Given the description of an element on the screen output the (x, y) to click on. 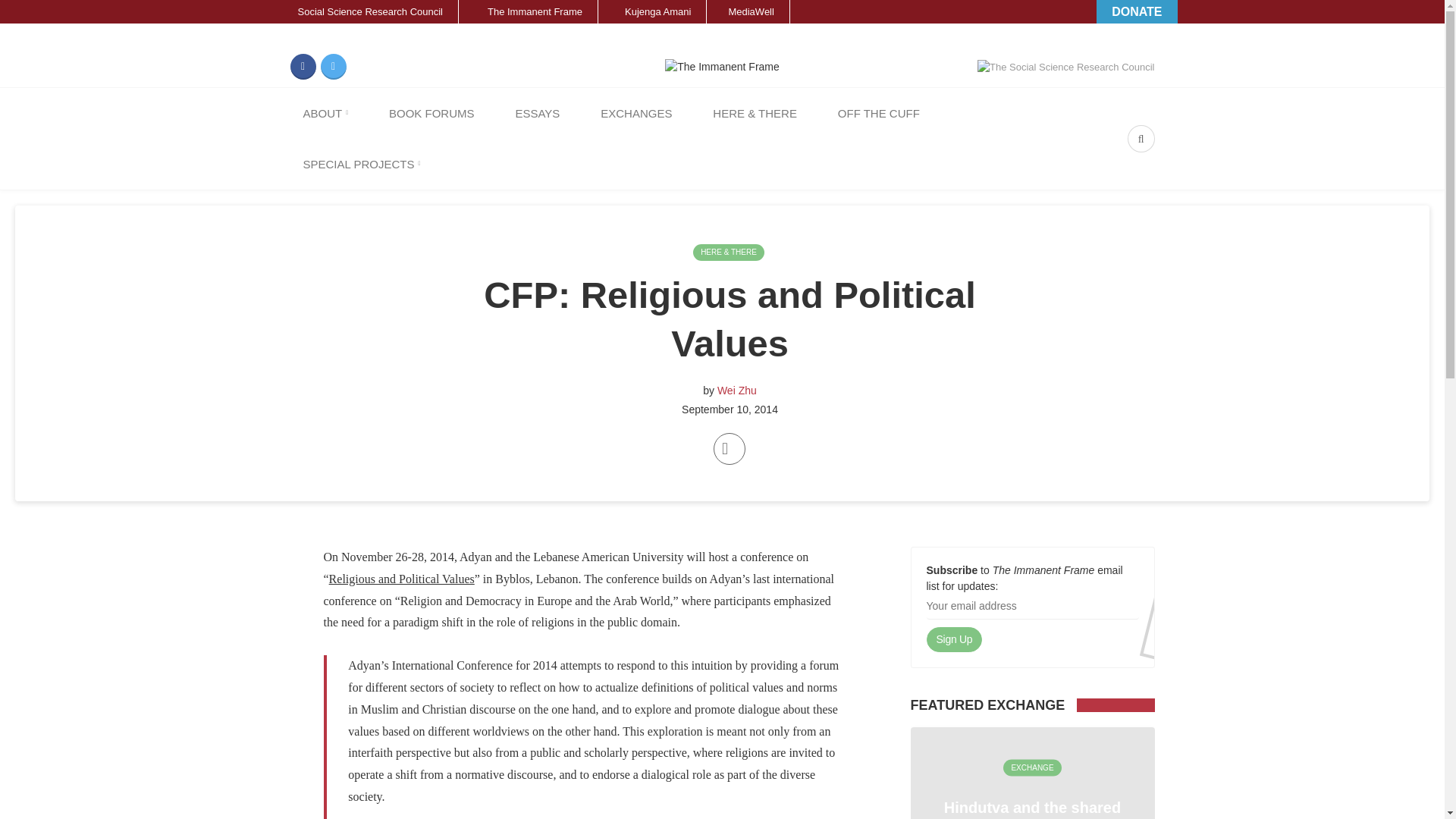
Facebook (302, 66)
The Immanent Frame (527, 11)
MediaWell (747, 11)
The Immanent Frame (527, 11)
The Social Science Research Council (1065, 67)
OFF THE CUFF (879, 112)
Social Science Research Council (361, 11)
Donate (1136, 11)
Sign Up (954, 639)
SPECIAL PROJECTS (361, 163)
